Given the description of an element on the screen output the (x, y) to click on. 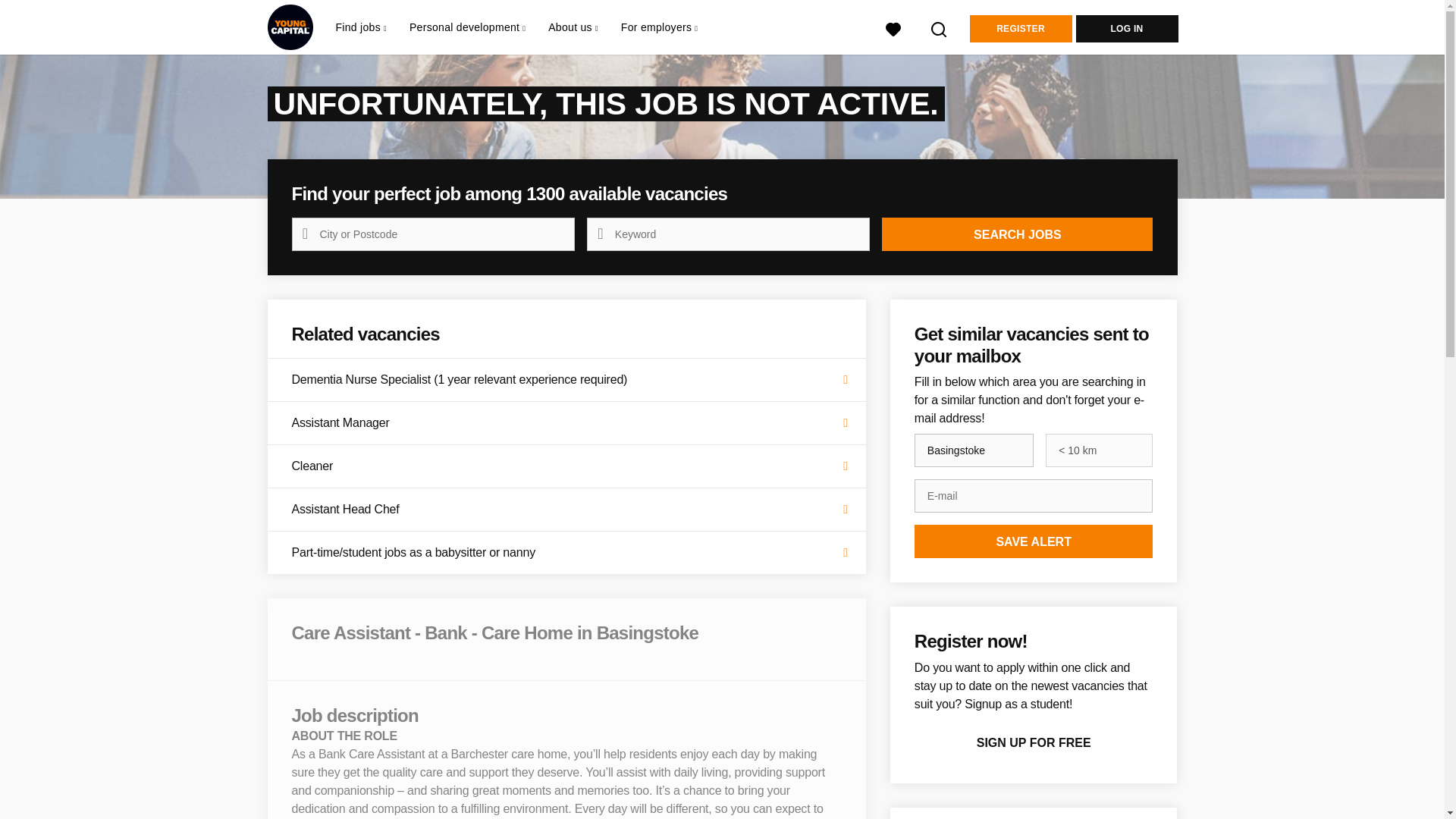
StudentJob UK (289, 26)
Basingstoke (973, 450)
